Given the description of an element on the screen output the (x, y) to click on. 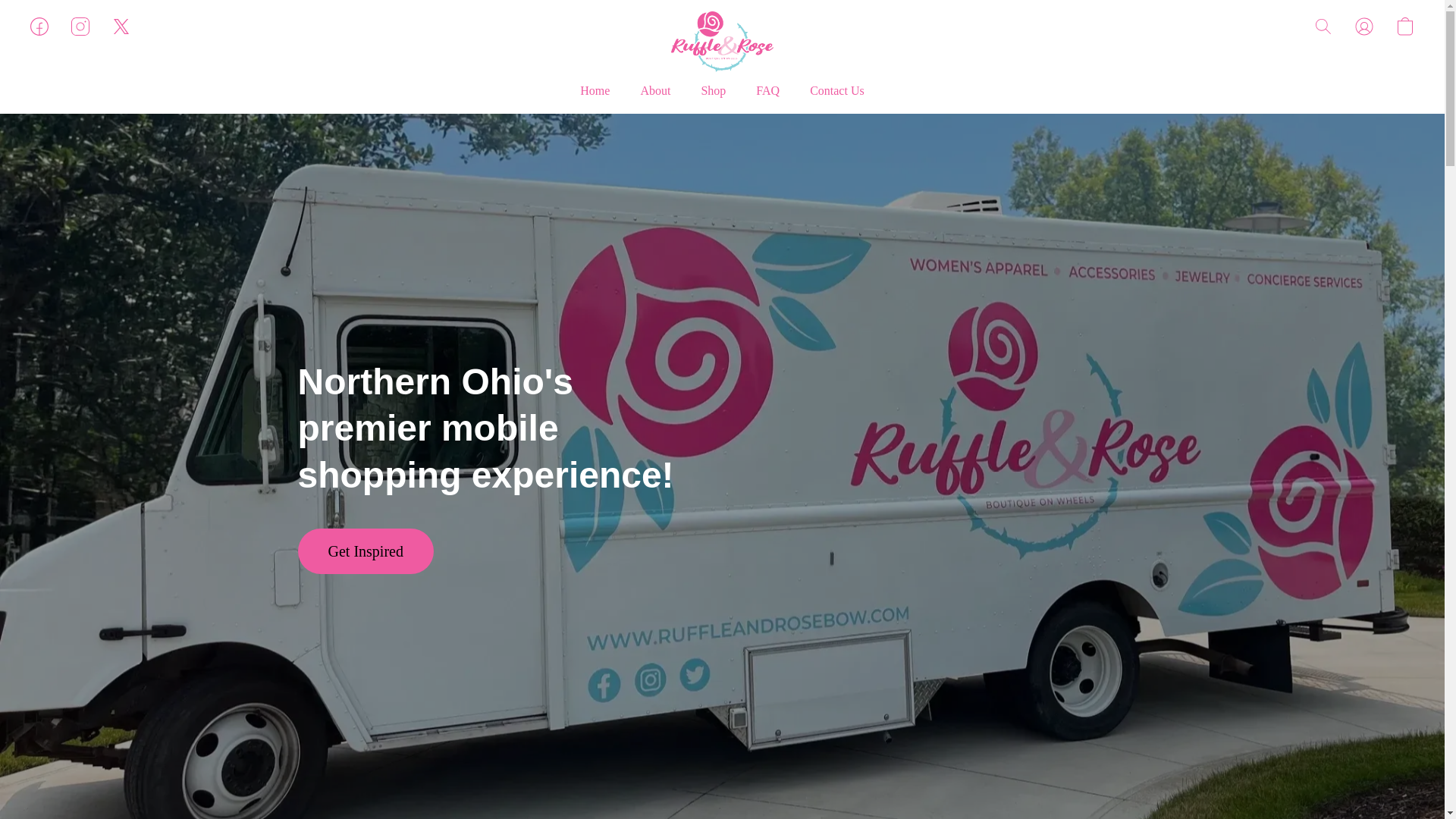
Get Inspired (364, 551)
About (654, 90)
Search the website (1323, 26)
Contact Us (829, 90)
Shop (713, 90)
Go to your shopping cart (1404, 26)
FAQ (767, 90)
Home (601, 90)
